Given the description of an element on the screen output the (x, y) to click on. 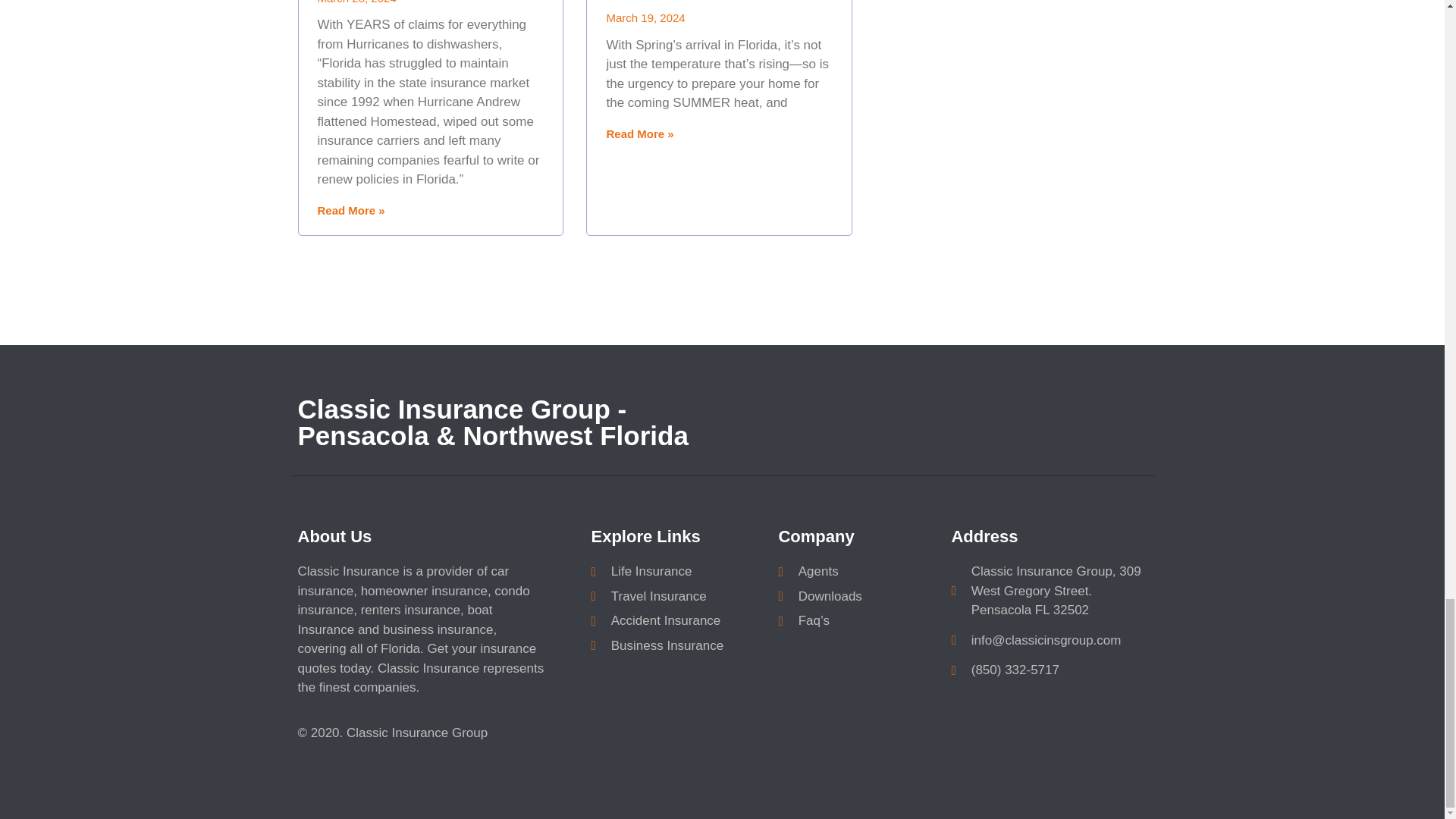
Life Insurance (676, 571)
Agents (856, 571)
Business Insurance (676, 646)
Warmer Temps Mean Time To Prep For The Summer Season! (710, 1)
Downloads (856, 596)
Accident Insurance (676, 620)
Travel Insurance (676, 596)
